Given the description of an element on the screen output the (x, y) to click on. 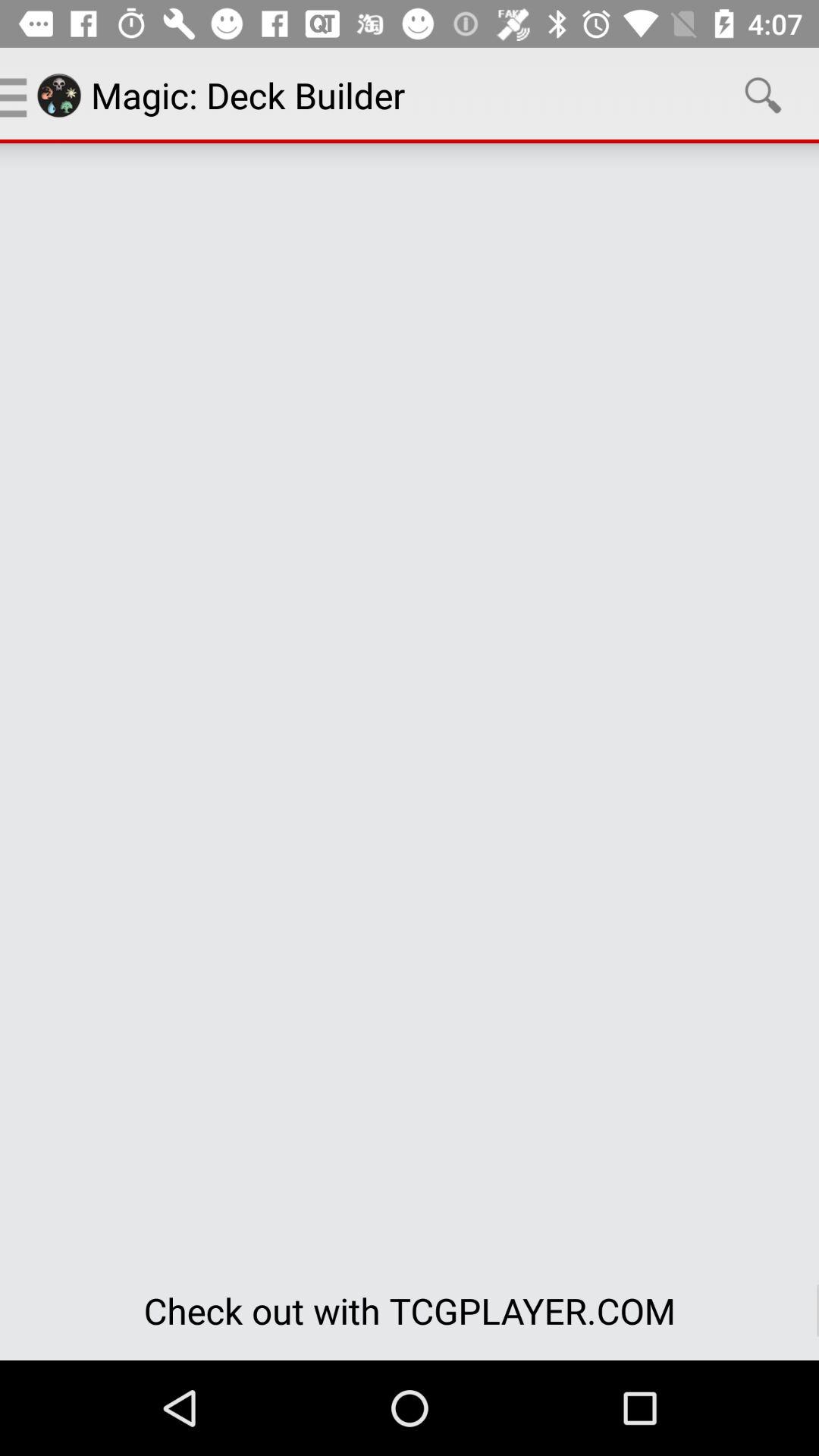
turn on item at the top right corner (763, 95)
